Given the description of an element on the screen output the (x, y) to click on. 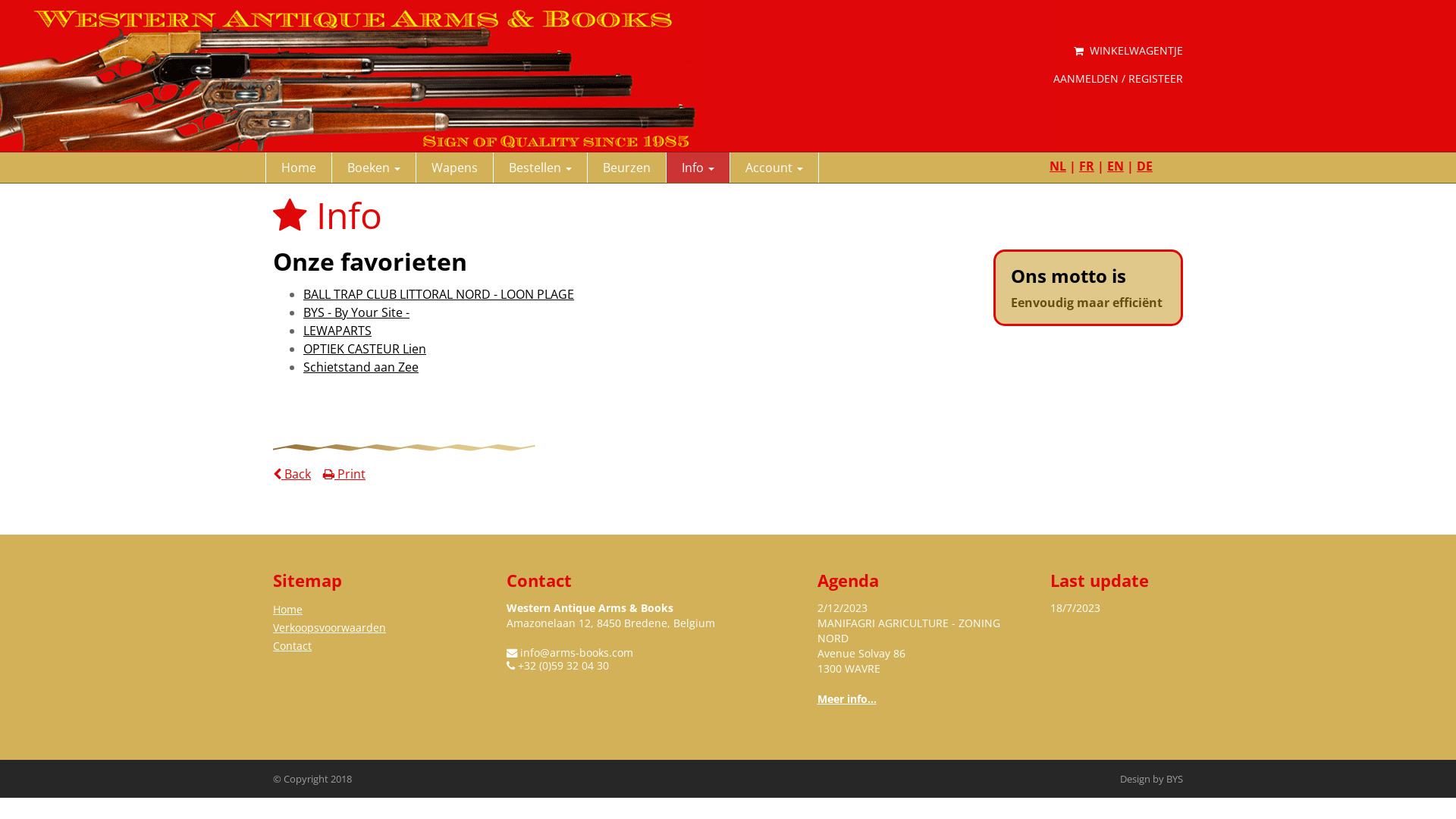
Verkoopsvoorwaarden Element type: text (329, 627)
Account Element type: text (774, 167)
Contact Element type: text (292, 645)
Print Element type: text (344, 473)
Back Element type: text (291, 473)
NL Element type: text (1057, 165)
AANMELDEN / REGISTEER Element type: text (1118, 78)
Home Element type: text (287, 609)
Boeken Element type: text (374, 167)
Info Element type: text (698, 167)
Beurzen Element type: text (626, 167)
Meer info... Element type: text (846, 698)
Bestellen Element type: text (540, 167)
LEWAPARTS Element type: text (337, 330)
EN Element type: text (1115, 165)
  WINKELWAGENTJE Element type: text (1128, 50)
Schietstand aan Zee Element type: text (360, 366)
FR Element type: text (1086, 165)
Wapens Element type: text (454, 167)
Design by BYS Element type: text (1151, 778)
BALL TRAP CLUB LITTORAL NORD - LOON PLAGE Element type: text (438, 293)
Home Element type: text (298, 167)
DE Element type: text (1144, 165)
BYS - By Your Site - Element type: text (356, 312)
OPTIEK CASTEUR Lien Element type: text (364, 348)
